Given the description of an element on the screen output the (x, y) to click on. 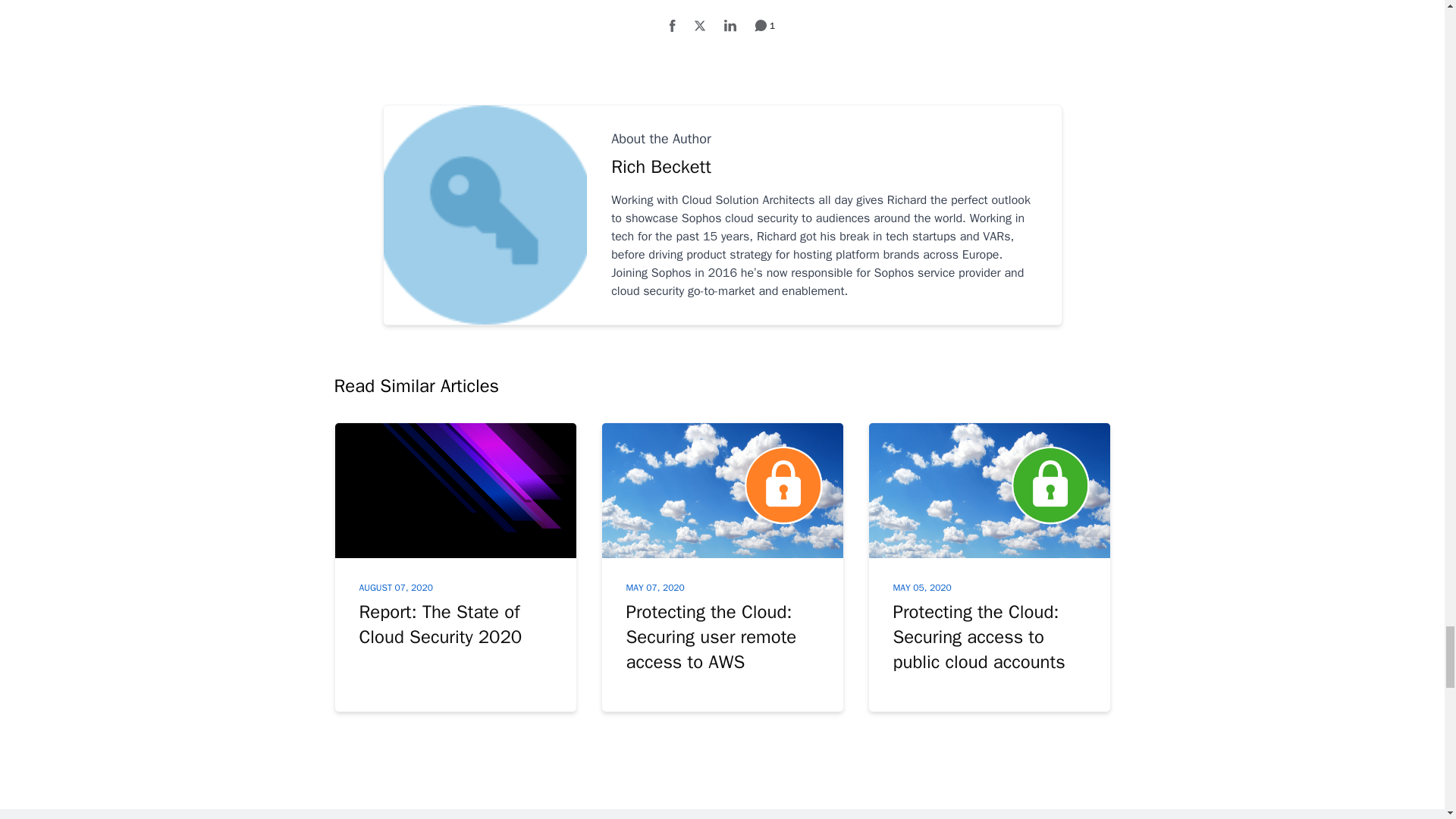
Posts by Rich Beckett (823, 166)
Share on X (700, 25)
Leave a Reply (764, 25)
Share on LinkedIn (729, 25)
